Given the description of an element on the screen output the (x, y) to click on. 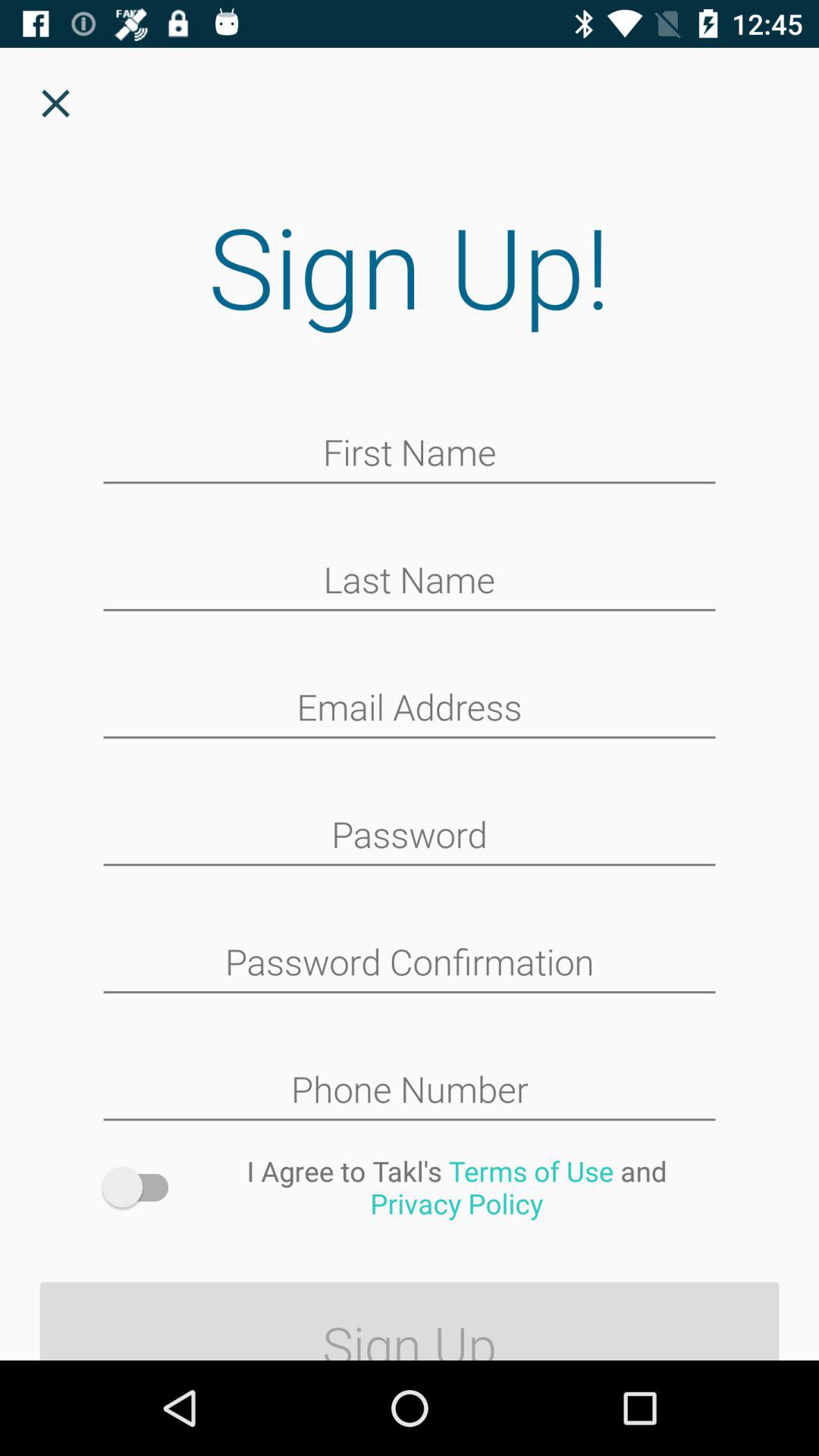
space to enter password (409, 836)
